Given the description of an element on the screen output the (x, y) to click on. 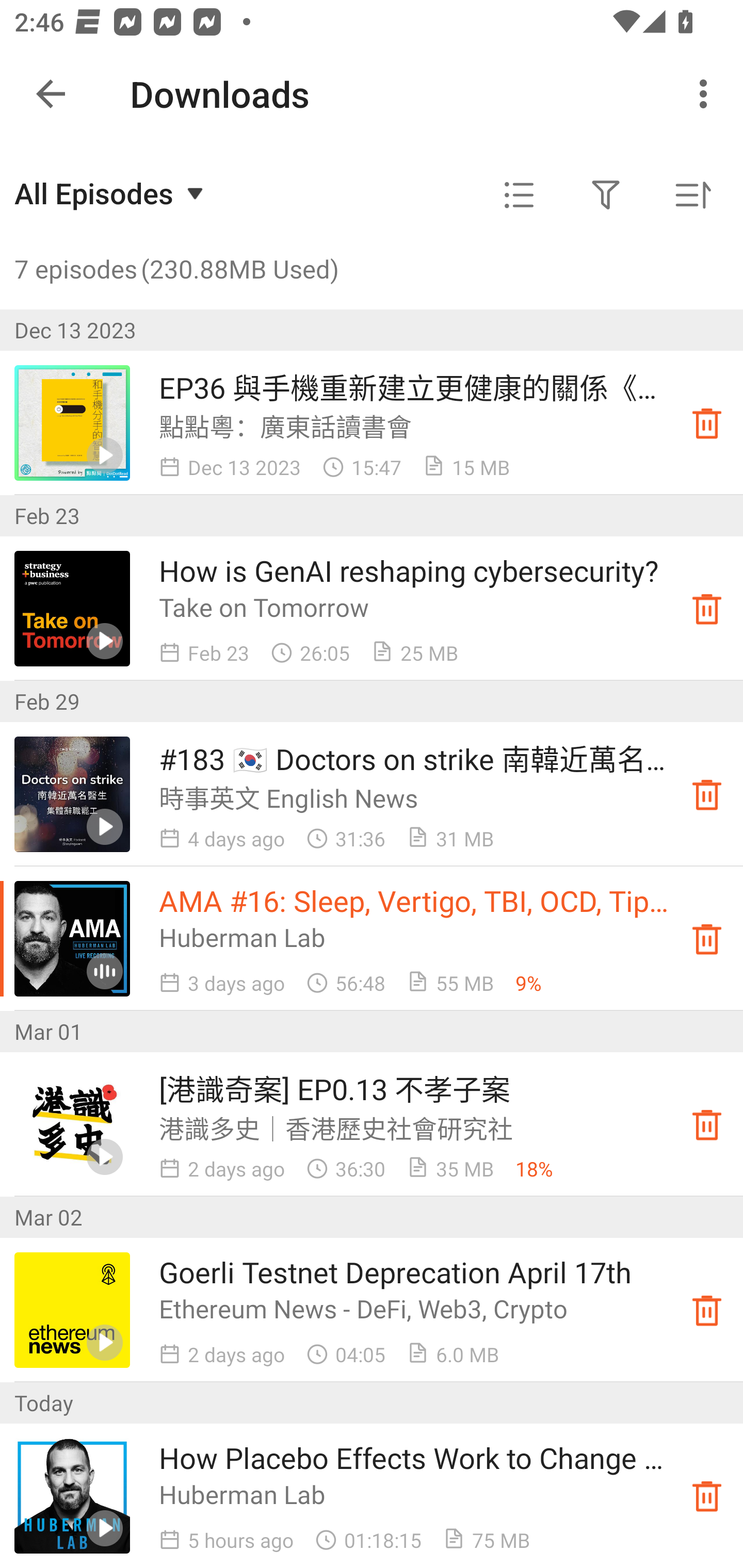
Navigate up (50, 93)
More options (706, 93)
All Episodes (111, 192)
 (518, 195)
 (605, 195)
 Sorted by oldest first (692, 195)
Downloaded (706, 423)
Downloaded (706, 608)
Downloaded (706, 794)
Downloaded (706, 938)
Downloaded (706, 1124)
Downloaded (706, 1309)
Downloaded (706, 1495)
